Given the description of an element on the screen output the (x, y) to click on. 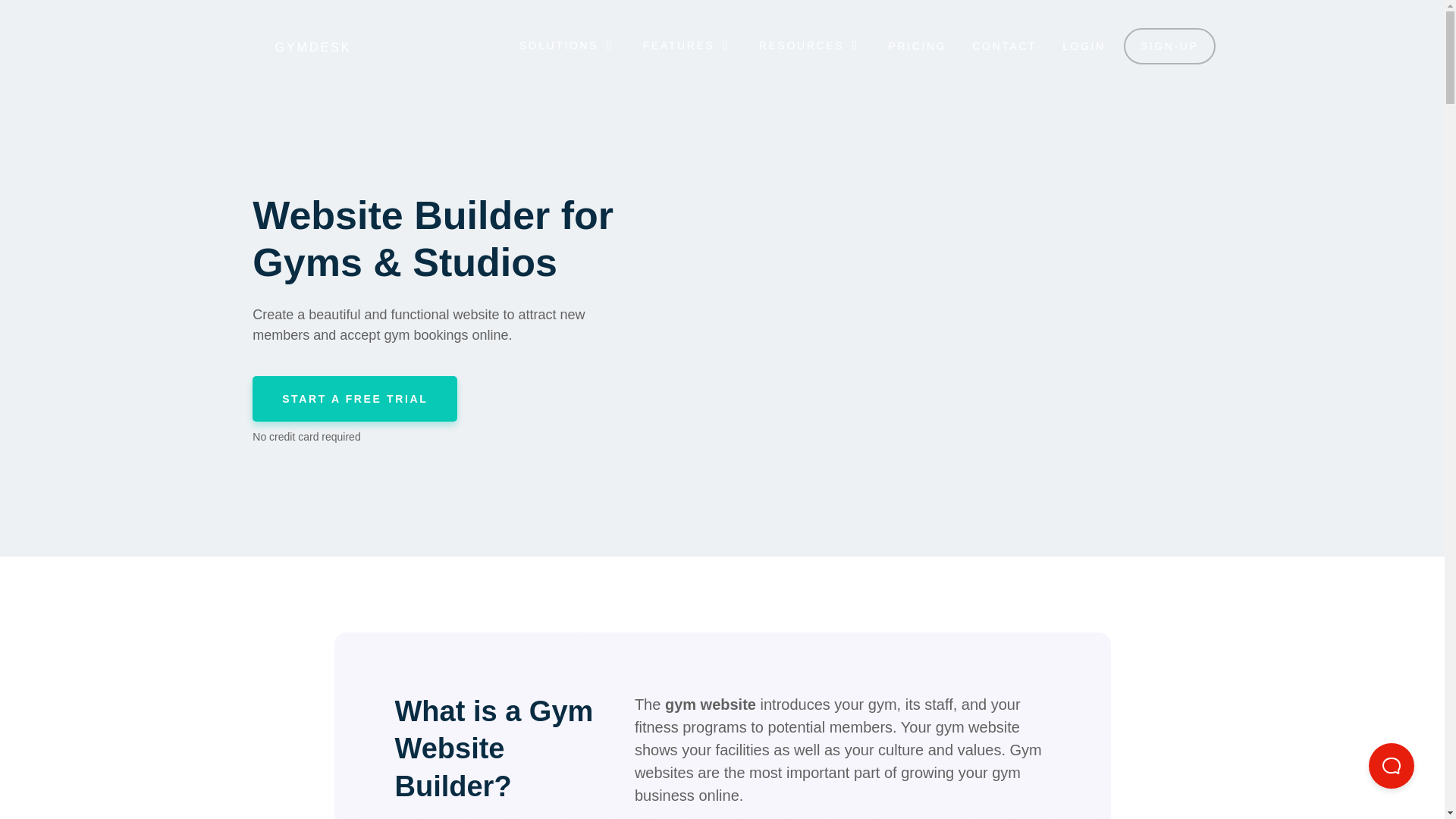
GYMDESK (285, 47)
LOGIN (1083, 45)
Homepage - Gymdesk (285, 47)
START A FREE TRIAL (354, 398)
SIGN-UP (1169, 45)
PRICING (917, 45)
CONTACT (1003, 45)
